Given the description of an element on the screen output the (x, y) to click on. 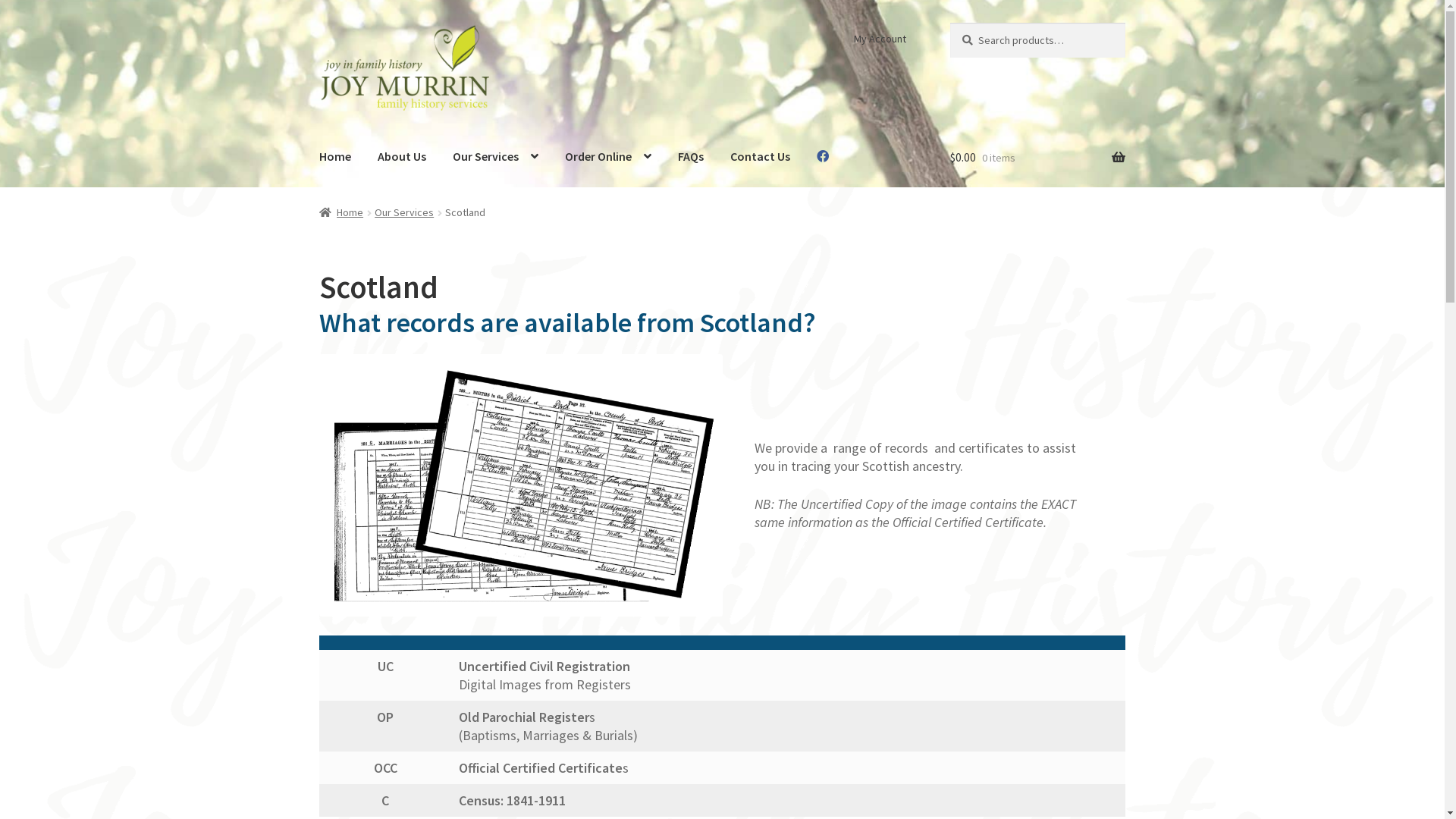
Our Services Element type: text (495, 156)
Home Element type: text (335, 156)
FAQs Element type: text (690, 156)
Facebook Element type: text (822, 156)
$0.00 0 items Element type: text (1037, 157)
Our Services Element type: text (403, 212)
About Us Element type: text (401, 156)
My Account Element type: text (879, 38)
Contact Us Element type: text (760, 156)
Home Element type: text (341, 212)
Search Element type: text (949, 21)
Skip to navigation Element type: text (318, 21)
Order Online Element type: text (607, 156)
